Given the description of an element on the screen output the (x, y) to click on. 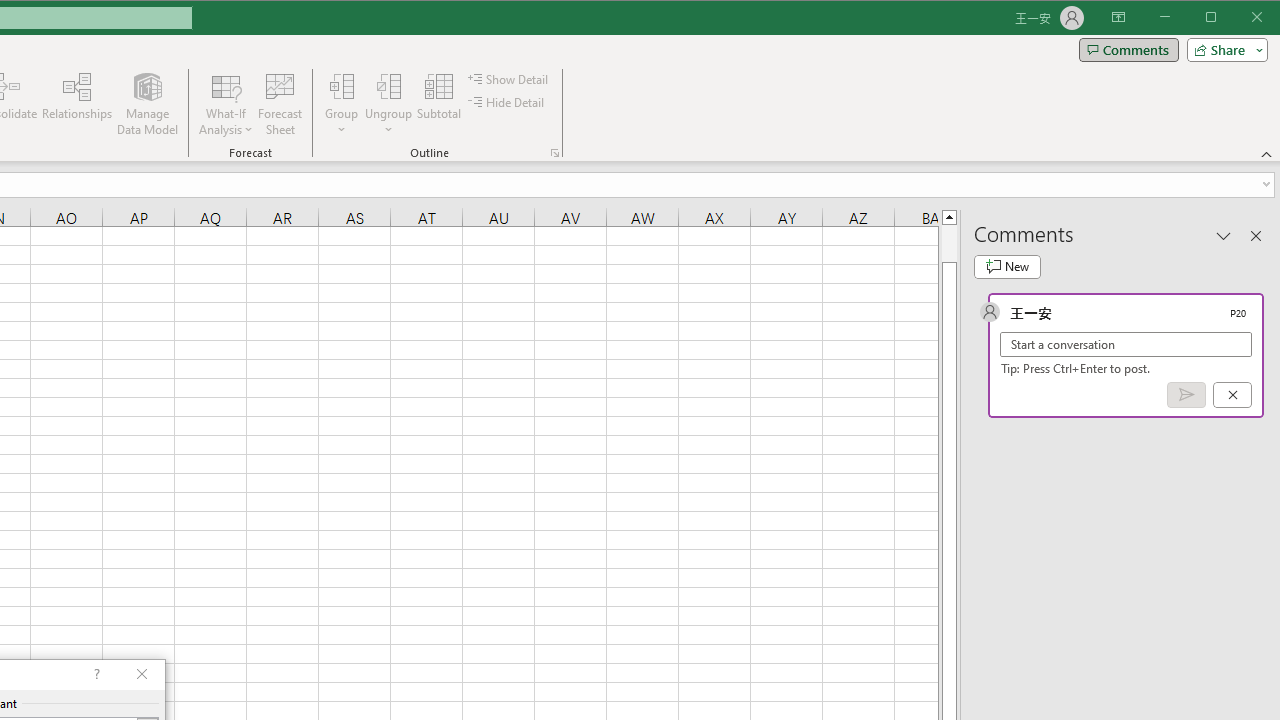
Ungroup... (388, 104)
Subtotal (438, 104)
Group and Outline Settings (554, 152)
Start a conversation (1126, 344)
Manage Data Model (147, 104)
Post comment (Ctrl + Enter) (1186, 395)
Show Detail (509, 78)
Group... (342, 104)
Page up (948, 243)
Task Pane Options (1224, 235)
Close pane (1256, 235)
